Given the description of an element on the screen output the (x, y) to click on. 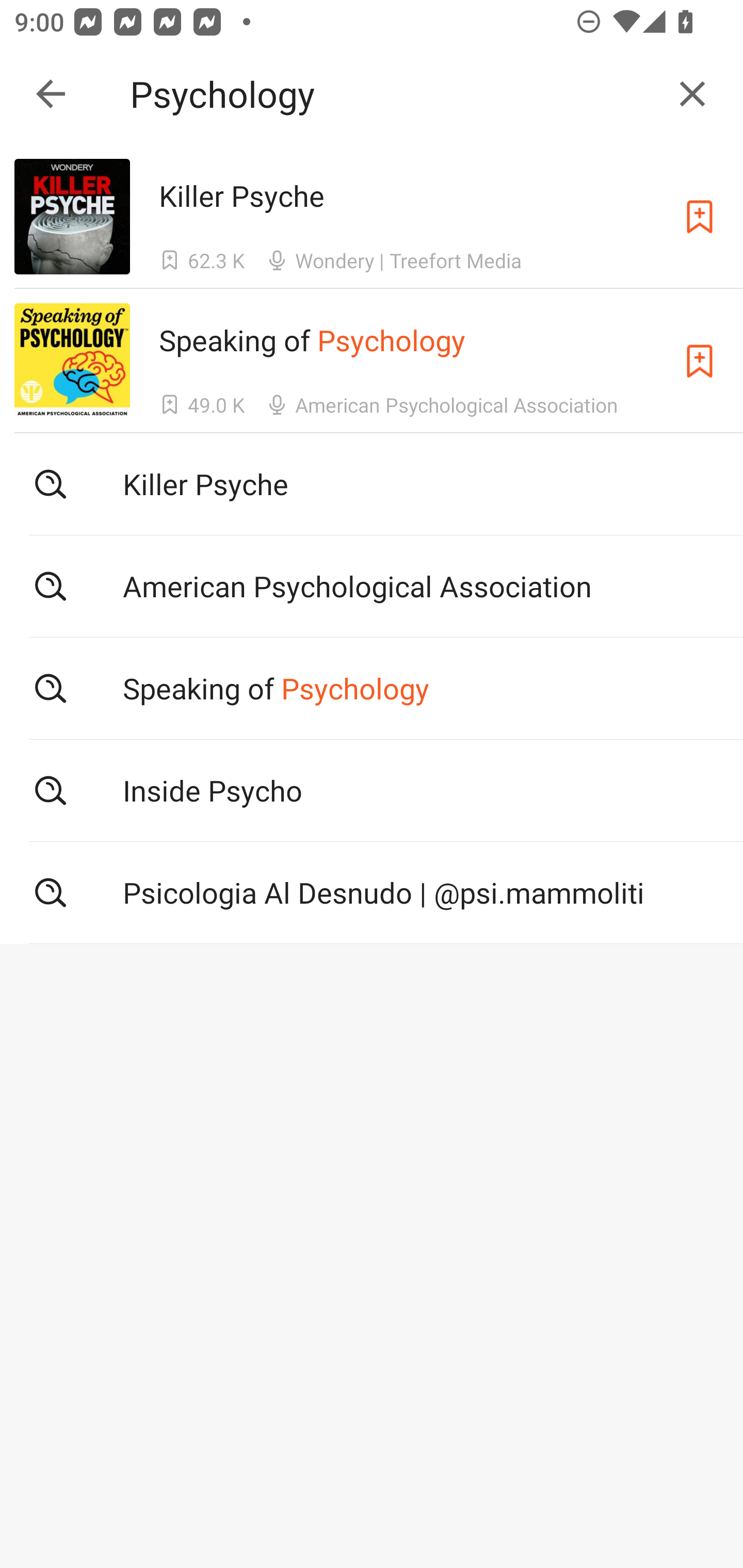
Collapse (50, 93)
Clear query (692, 93)
Psychology (393, 94)
Subscribe (699, 216)
Subscribe (699, 360)
 Killer Psyche (371, 483)
 American Psychological Association (371, 585)
 Speaking of Psychology (371, 688)
 Inside Psycho (371, 791)
 Psicologia Al Desnudo | @psi.mammoliti (371, 892)
